Given the description of an element on the screen output the (x, y) to click on. 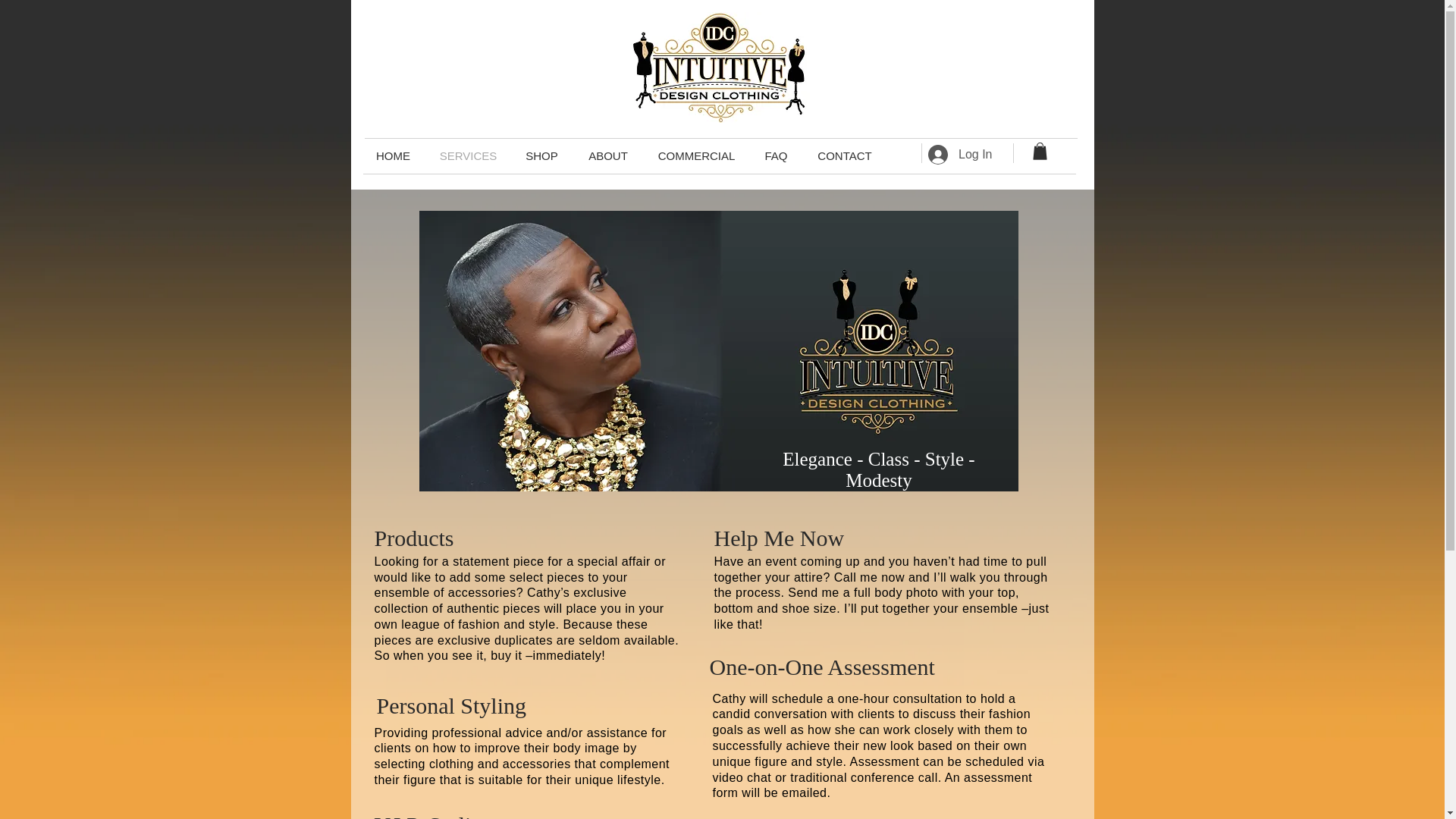
COMMERCIAL (696, 155)
SHOP (542, 155)
CONTACT (844, 155)
FAQ (775, 155)
HOME (393, 155)
SERVICES (468, 155)
ABOUT (608, 155)
Log In (960, 154)
